Given the description of an element on the screen output the (x, y) to click on. 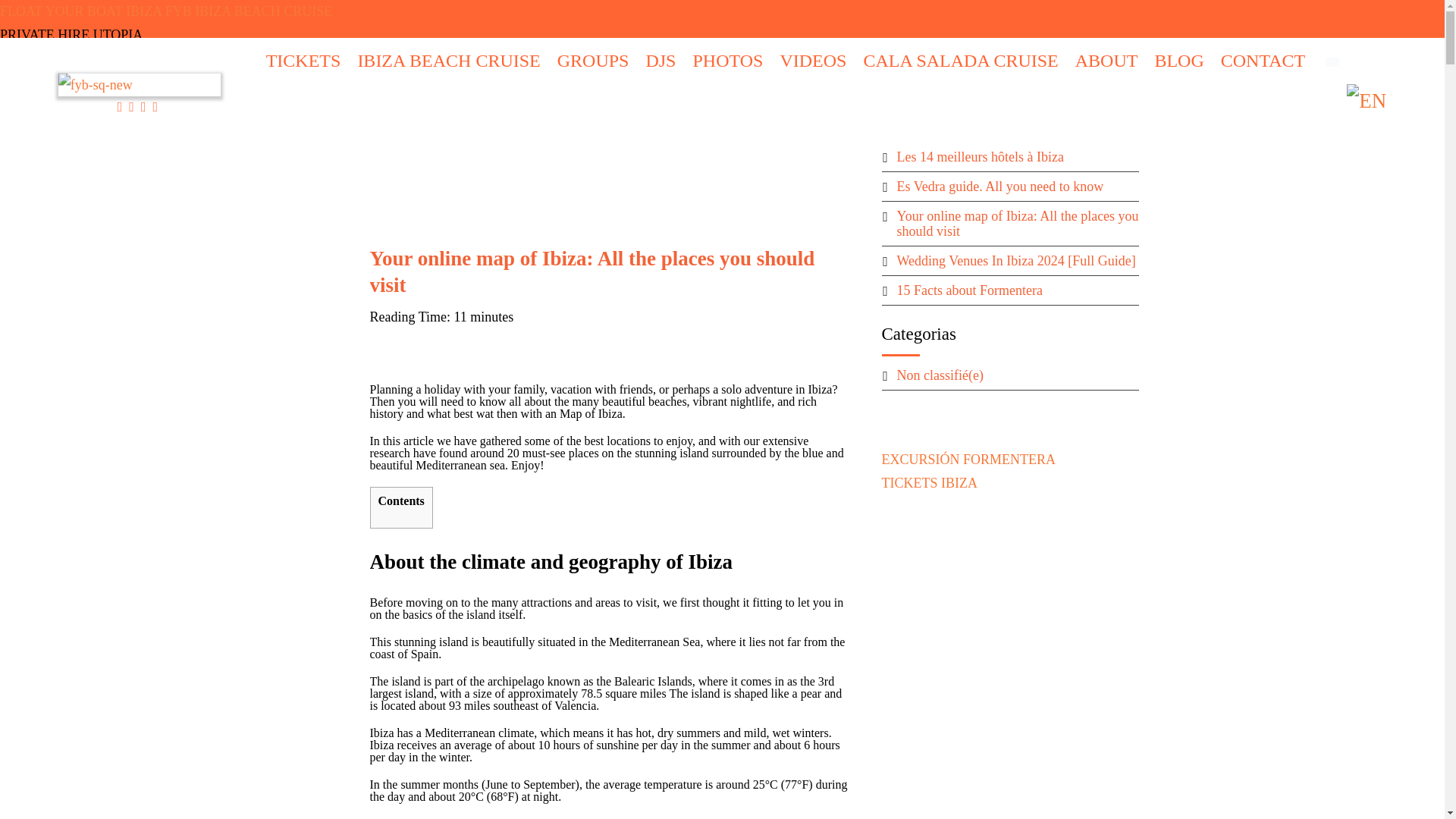
IBIZA BOAT PARTY (911, 19)
UTOPIA BOAT HIRE IBIZA (793, 19)
PHOTOS (727, 60)
BLOG (1179, 60)
ABOUT (1107, 60)
FYB IBIZA BEACH CRUISES (657, 19)
IBIZA BEACH CRUISE (448, 60)
FLOAT YOUR BOAT (533, 19)
GROUPS (593, 60)
VIDEOS (812, 60)
